Given the description of an element on the screen output the (x, y) to click on. 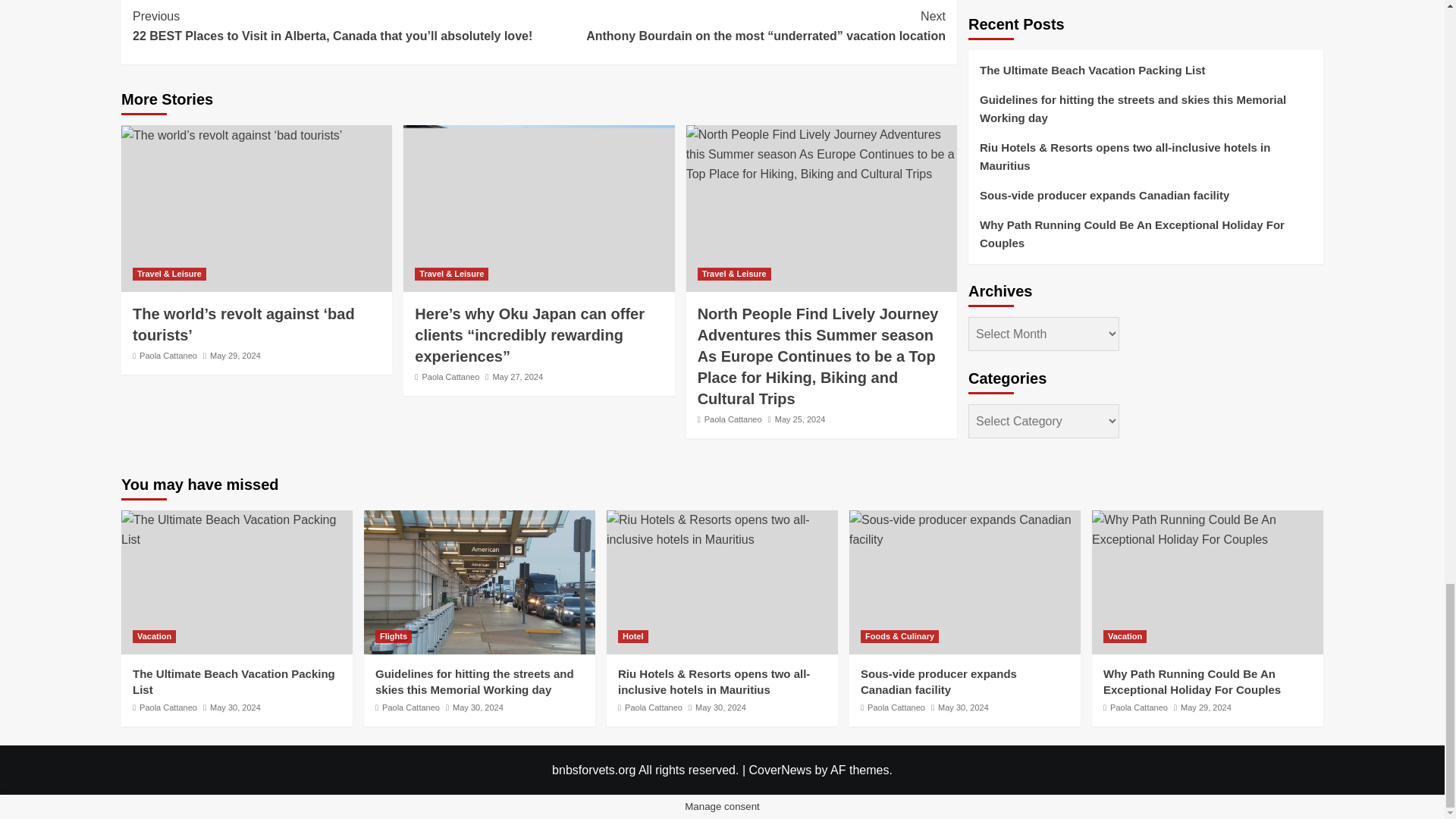
The Ultimate Beach Vacation Packing List (236, 529)
Sous-vide producer expands Canadian facility (964, 529)
Why Path Running Could Be An Exceptional Holiday For Couples (1207, 529)
